Given the description of an element on the screen output the (x, y) to click on. 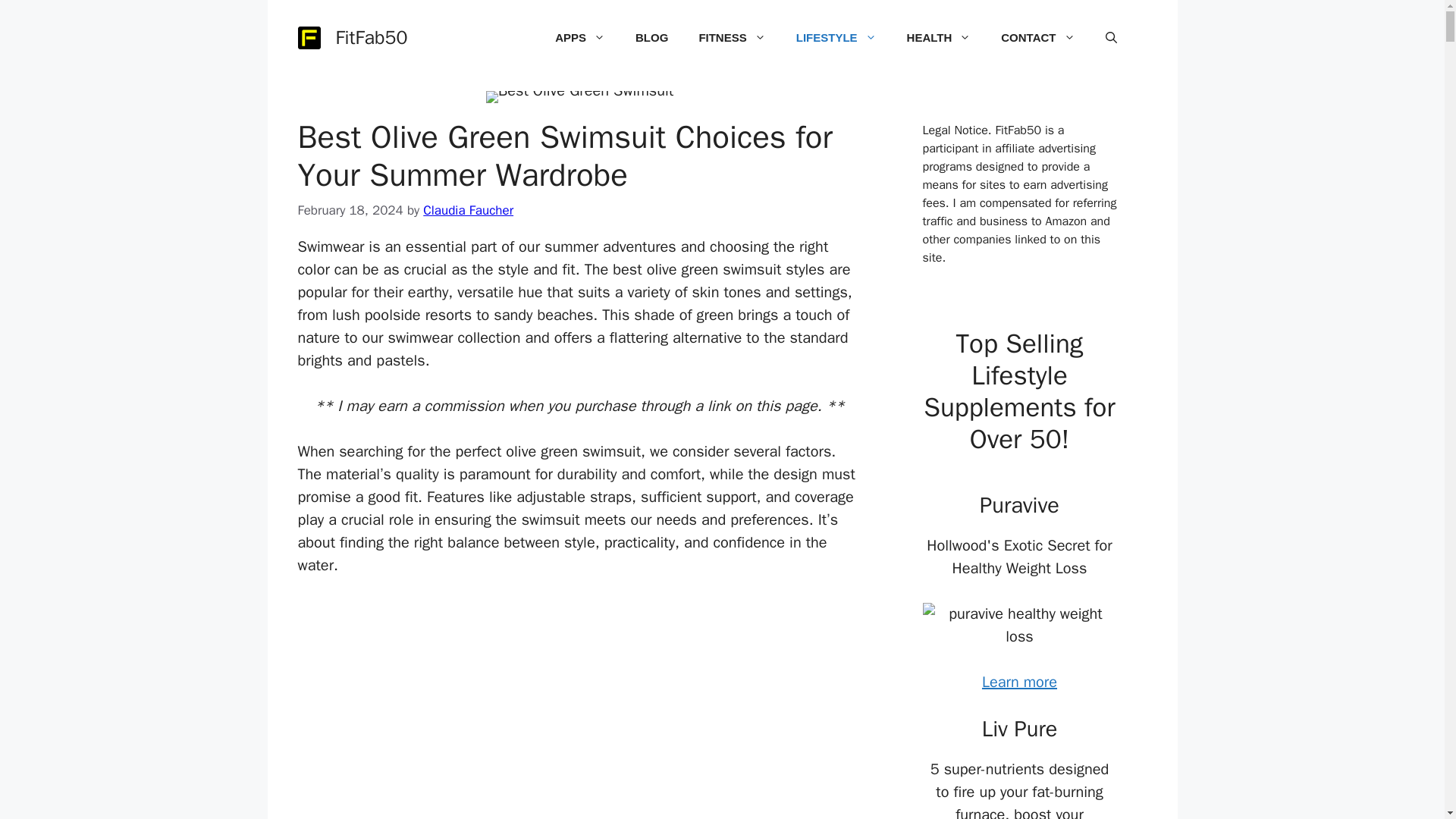
CONTACT (1037, 37)
View all posts by Claudia Faucher (468, 210)
FITNESS (731, 37)
Best Olive Green Swimsuit Choices for Your Summer Wardrobe 1 (579, 96)
BLOG (651, 37)
FitFab50 (370, 37)
APPS (580, 37)
LIFESTYLE (835, 37)
Claudia Faucher (468, 210)
olive-green-swimwear (579, 717)
HEALTH (939, 37)
